Given the description of an element on the screen output the (x, y) to click on. 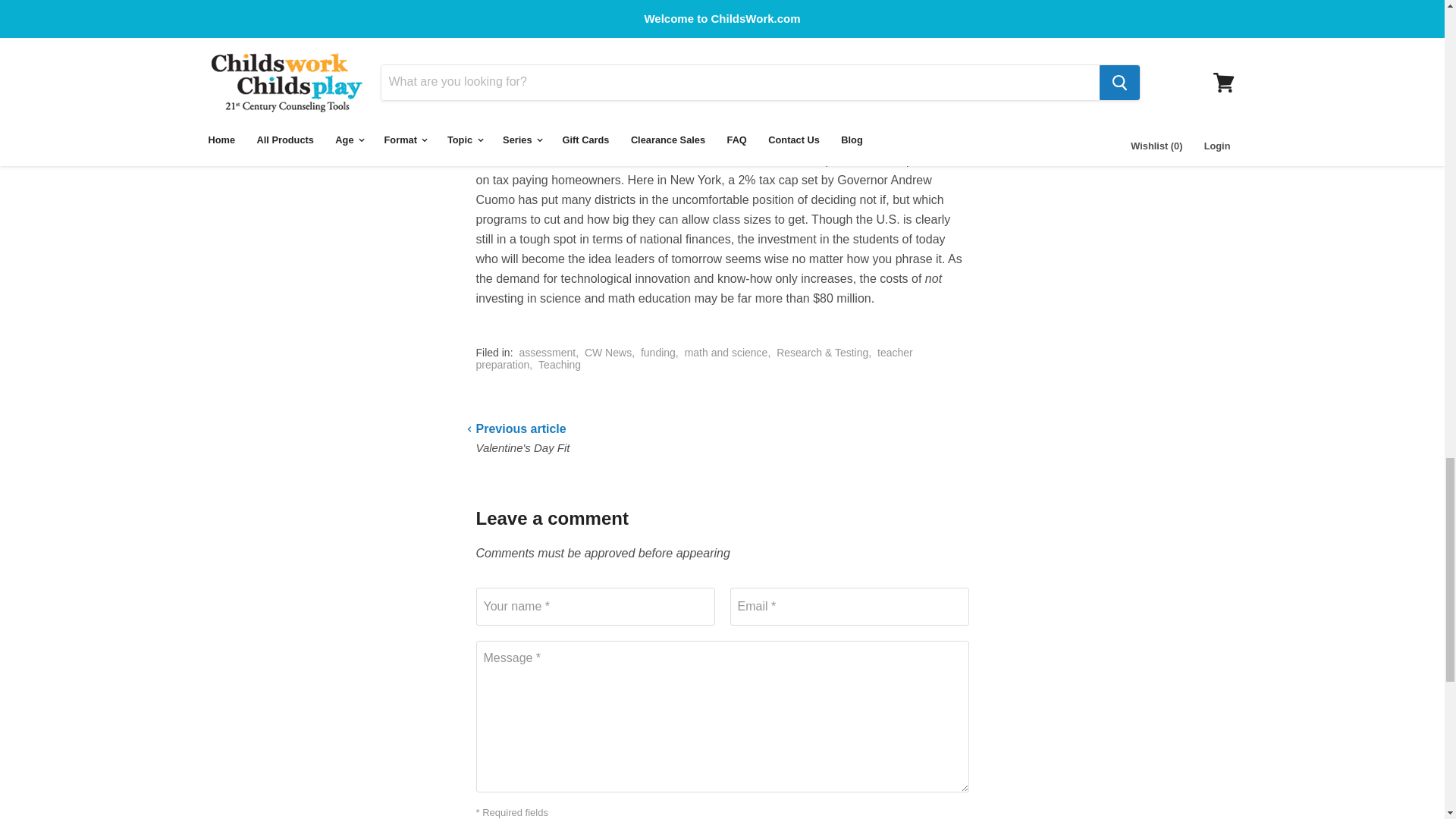
Show articles tagged funding (657, 352)
Show articles tagged CW News (608, 352)
Show articles tagged teacher preparation (694, 358)
Show articles tagged Teaching (559, 364)
Show articles tagged assessment (546, 352)
Show articles tagged math and science (726, 352)
